Given the description of an element on the screen output the (x, y) to click on. 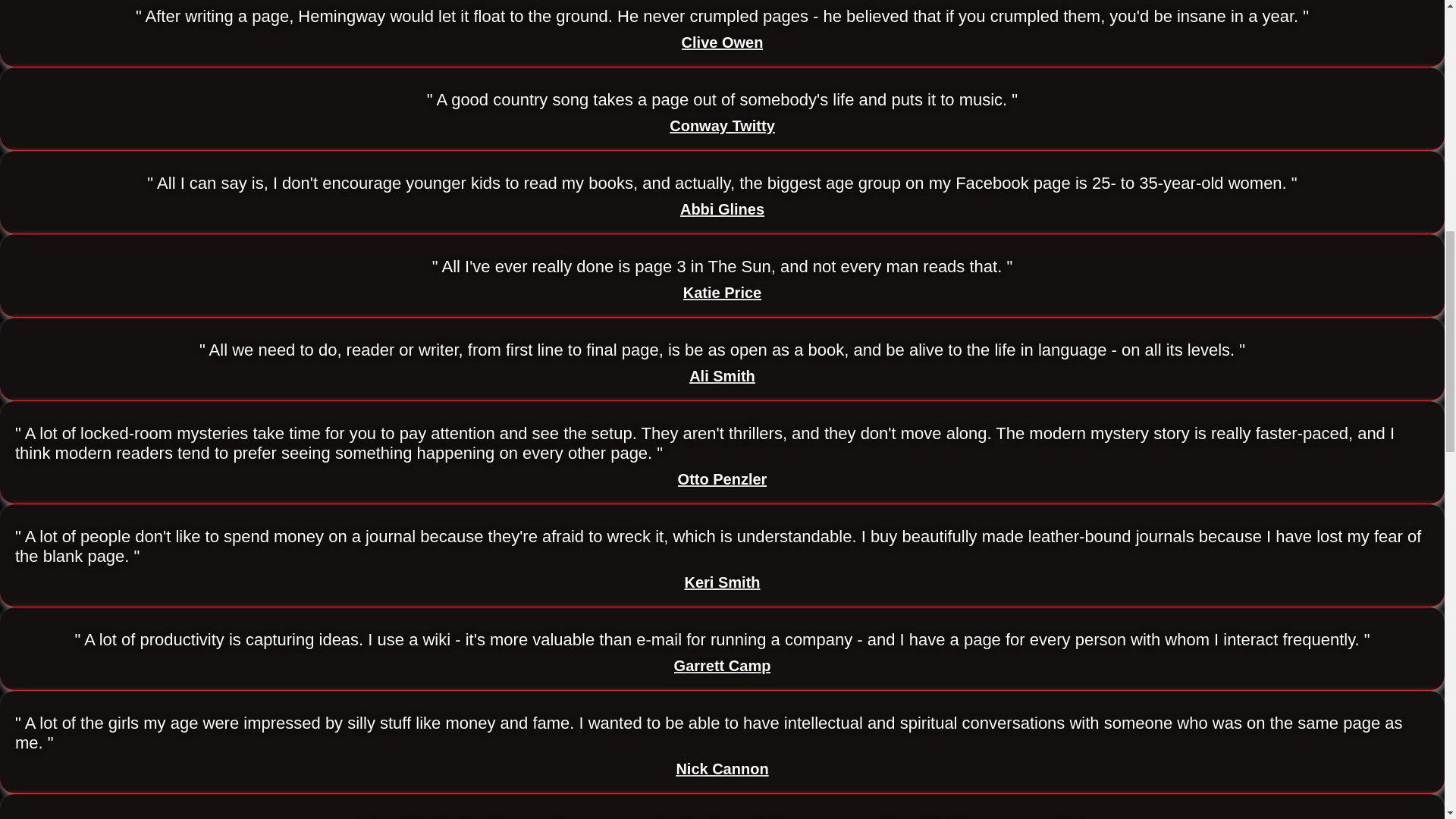
Conway Twitty (721, 126)
Keri Smith (722, 582)
Katie Price (721, 293)
Nick Cannon (721, 769)
Otto Penzler (722, 479)
Ali Smith (721, 375)
Clive Owen (721, 42)
